Given the description of an element on the screen output the (x, y) to click on. 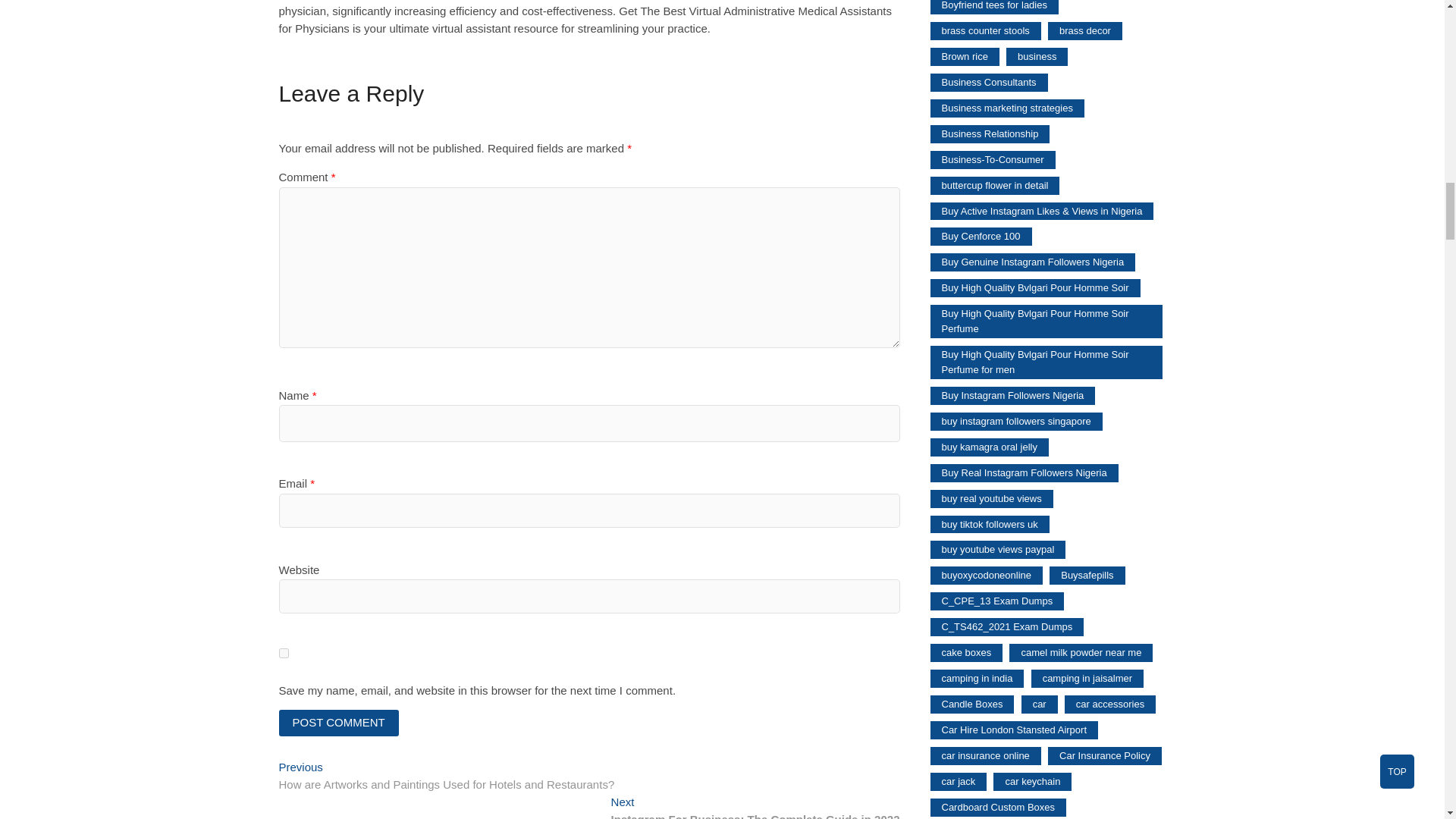
Post Comment (338, 723)
yes (283, 653)
Post Comment (338, 723)
